Given the description of an element on the screen output the (x, y) to click on. 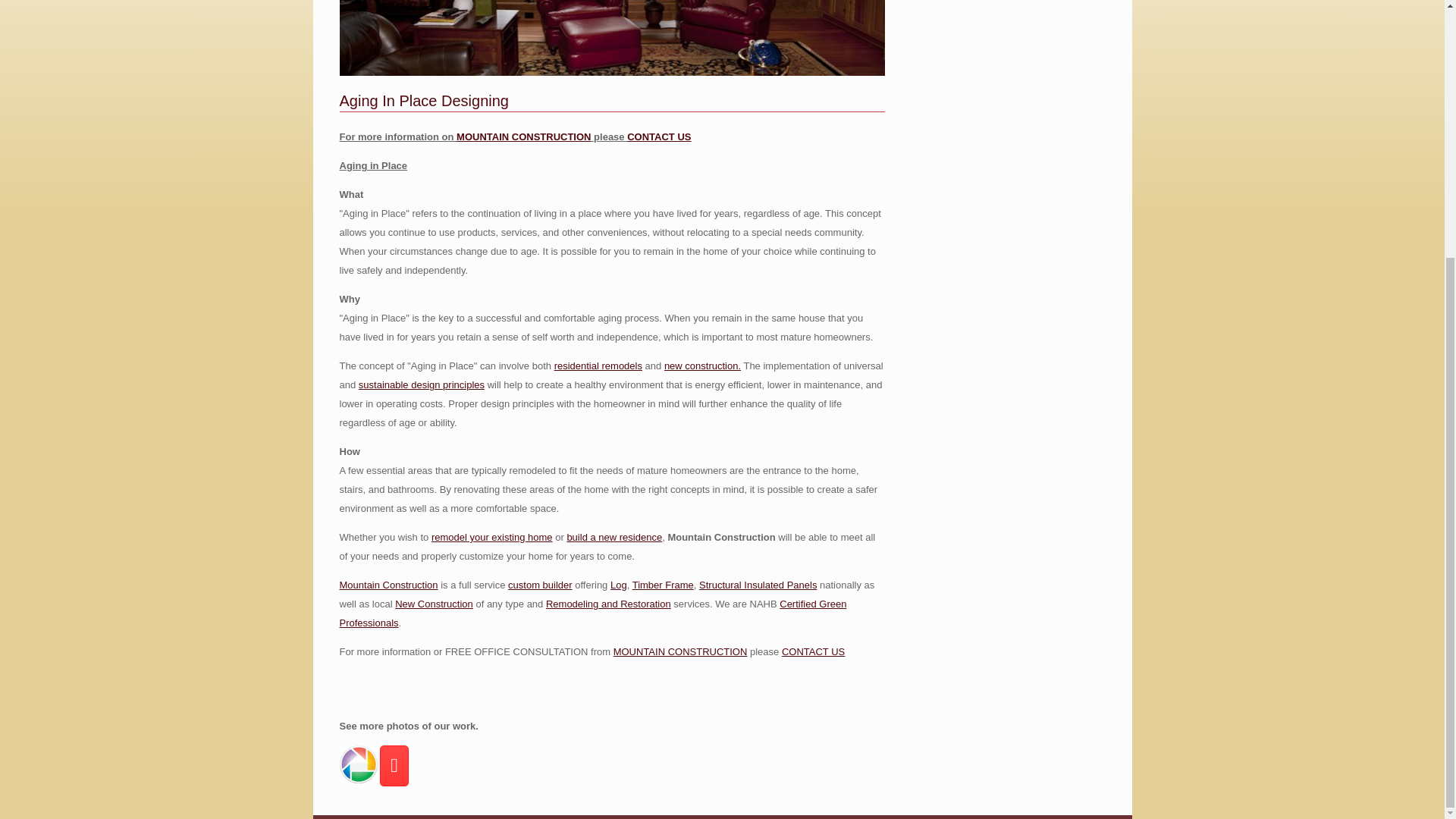
Aging In Place Designing (423, 100)
CONTACT US (658, 136)
sustainable design principles (421, 384)
remodel your existing home (491, 536)
residential remodels (598, 365)
MOUNTAIN CONSTRUCTION (524, 136)
Permalink to Aging In Place Designing (423, 100)
new construction. (702, 365)
build a new residence (614, 536)
